Given the description of an element on the screen output the (x, y) to click on. 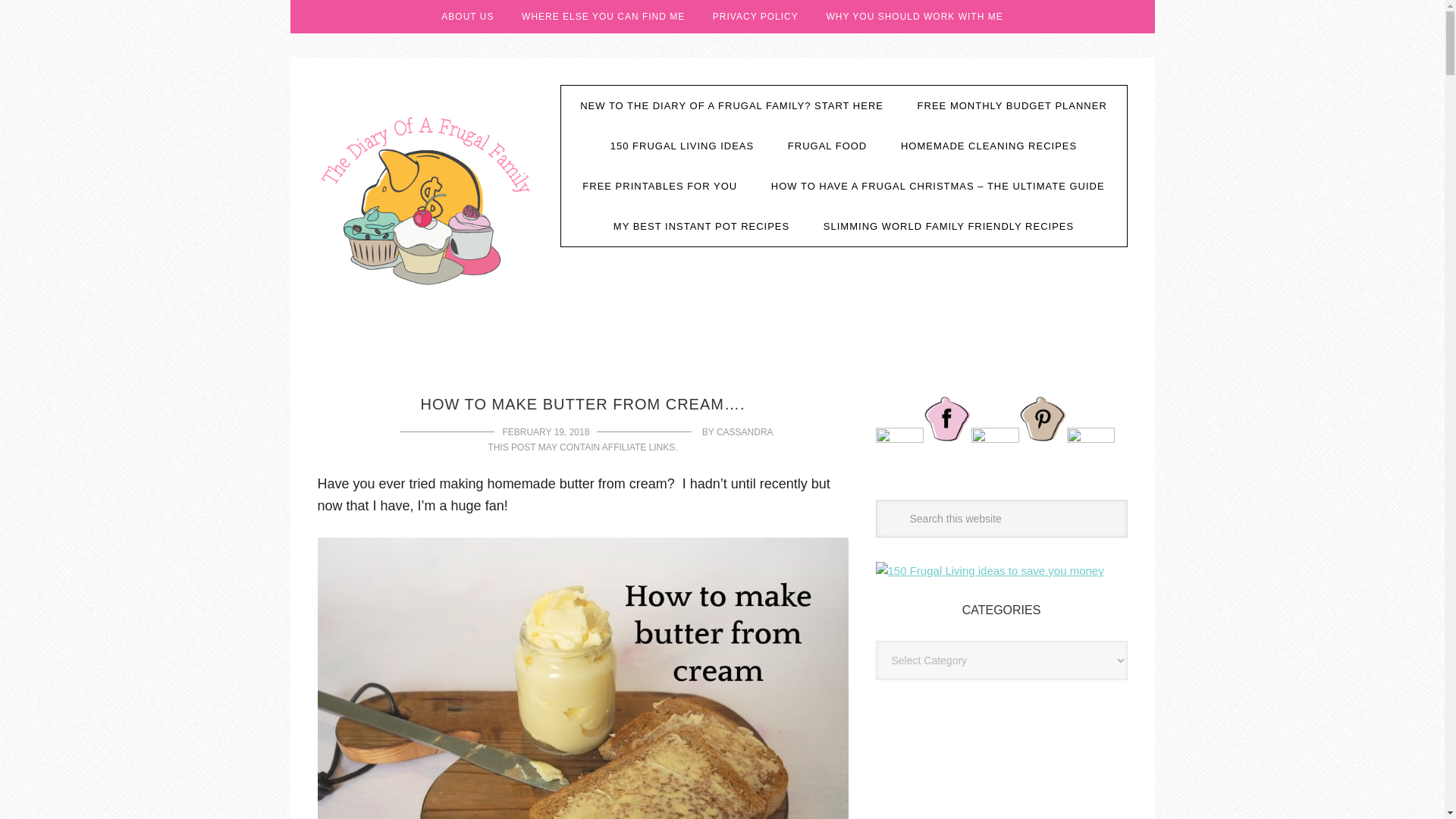
150 FRUGAL LIVING IDEAS (681, 146)
ABOUT US (467, 16)
WHERE ELSE YOU CAN FIND ME (603, 16)
MY BEST INSTANT POT RECIPES (701, 226)
THE DIARY OF A FRUGAL FAMILY (427, 198)
FREE PRINTABLES FOR YOU (659, 186)
WHY YOU SHOULD WORK WITH ME (913, 16)
NEW TO THE DIARY OF A FRUGAL FAMILY? START HERE (731, 105)
